Given the description of an element on the screen output the (x, y) to click on. 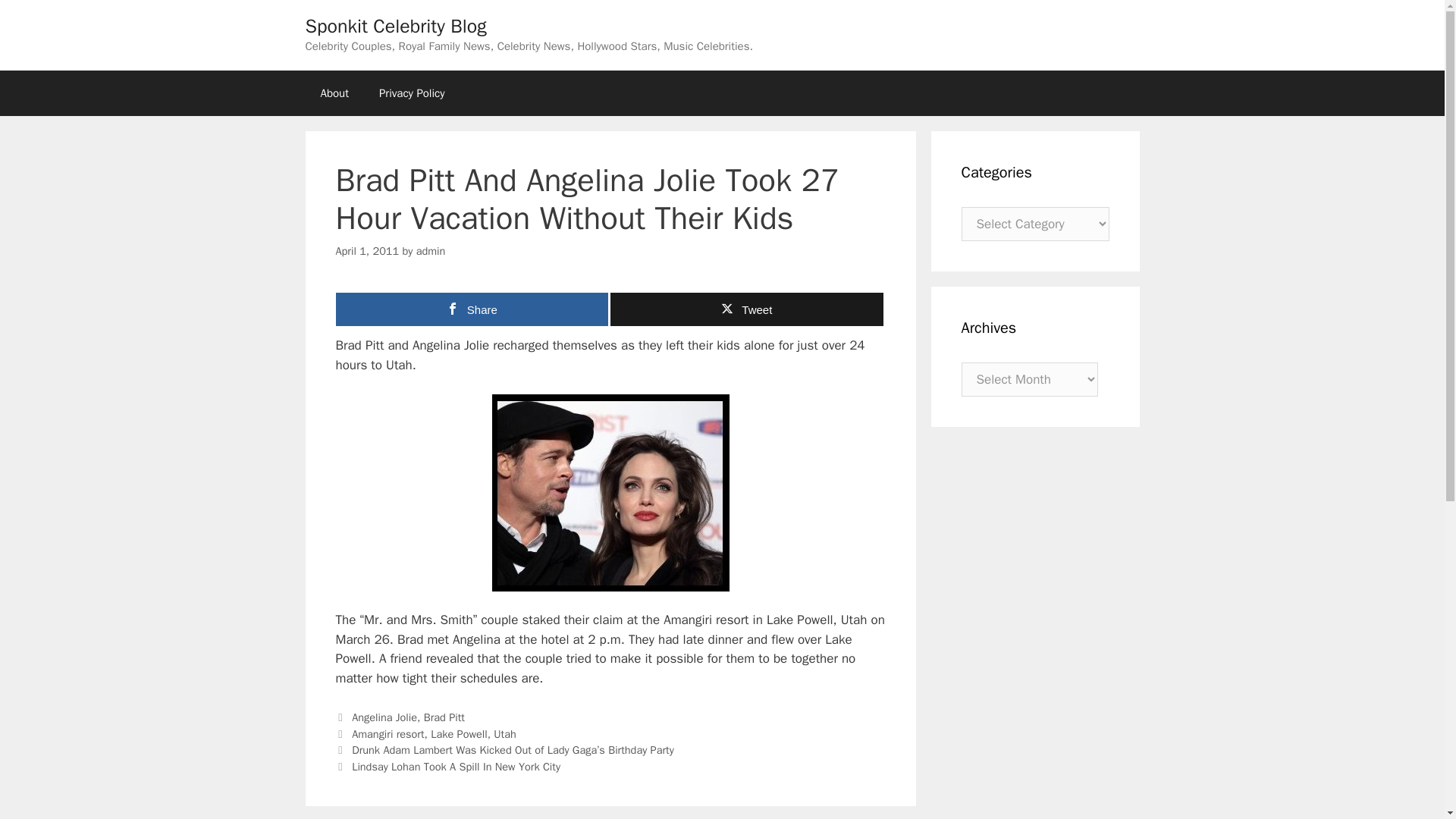
View all posts by admin (430, 250)
Angelina Jolie (384, 716)
Sponkit Celebrity Blog (395, 25)
Privacy Policy (412, 92)
Share (471, 308)
Amangiri resort (387, 734)
Brad Pitt (443, 716)
Lindsay Lohan Took A Spill In New York City (456, 766)
Utah (504, 734)
admin (430, 250)
Tweet (746, 308)
About (333, 92)
Lake Powell (458, 734)
